Given the description of an element on the screen output the (x, y) to click on. 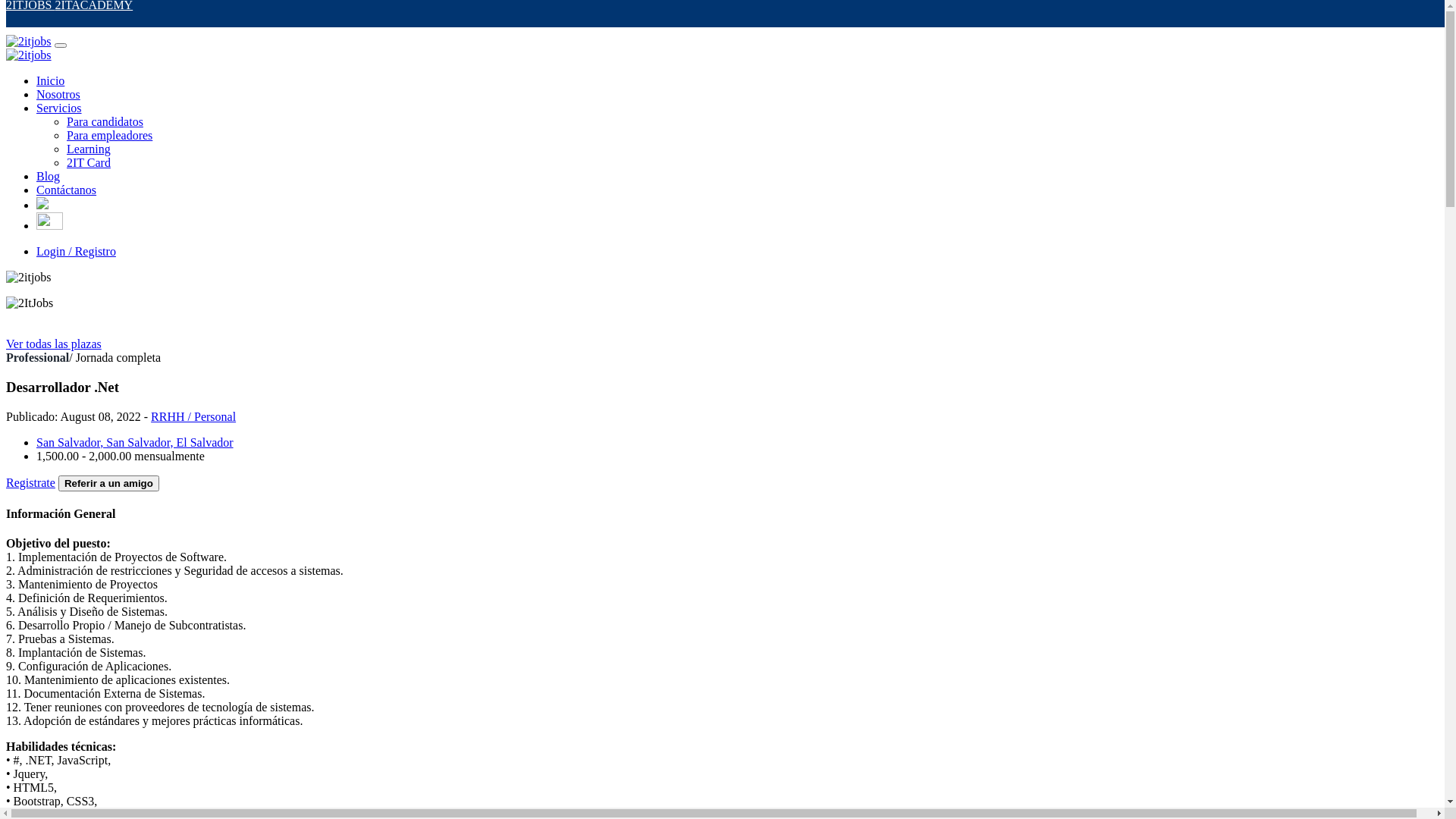
Para candidatos Element type: text (104, 121)
Servicios Element type: text (58, 107)
Para empleadores Element type: text (109, 134)
Referir a un amigo Element type: text (108, 483)
San Salvador, San Salvador, El Salvador Element type: text (134, 442)
2IT Card Element type: text (88, 162)
RRHH / Personal Element type: text (192, 416)
Login / Registro Element type: text (737, 251)
Nosotros Element type: text (58, 93)
Login / Registro Element type: text (76, 250)
Inicio Element type: text (50, 80)
Registrate Element type: text (30, 482)
Ver todas las plazas Element type: text (53, 343)
Learning Element type: text (88, 148)
Blog Element type: text (47, 175)
